Given the description of an element on the screen output the (x, y) to click on. 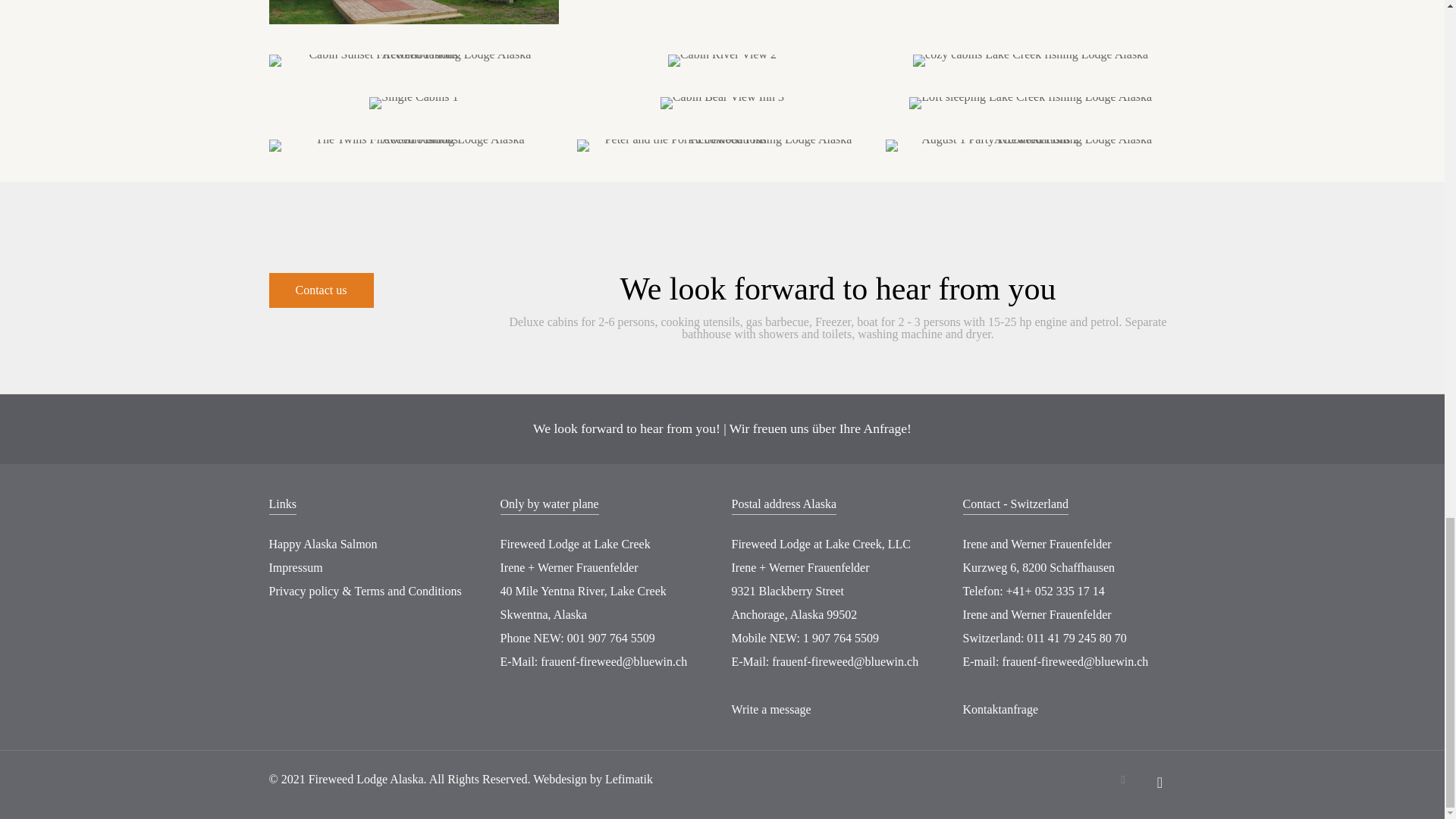
Kontaktanfrage (1000, 708)
Contact us (319, 289)
Happy Alaska Salmon (322, 543)
Impressum (294, 567)
Write a message (770, 708)
Facebook (1123, 779)
Webdesign by Lefimatik (592, 779)
